Given the description of an element on the screen output the (x, y) to click on. 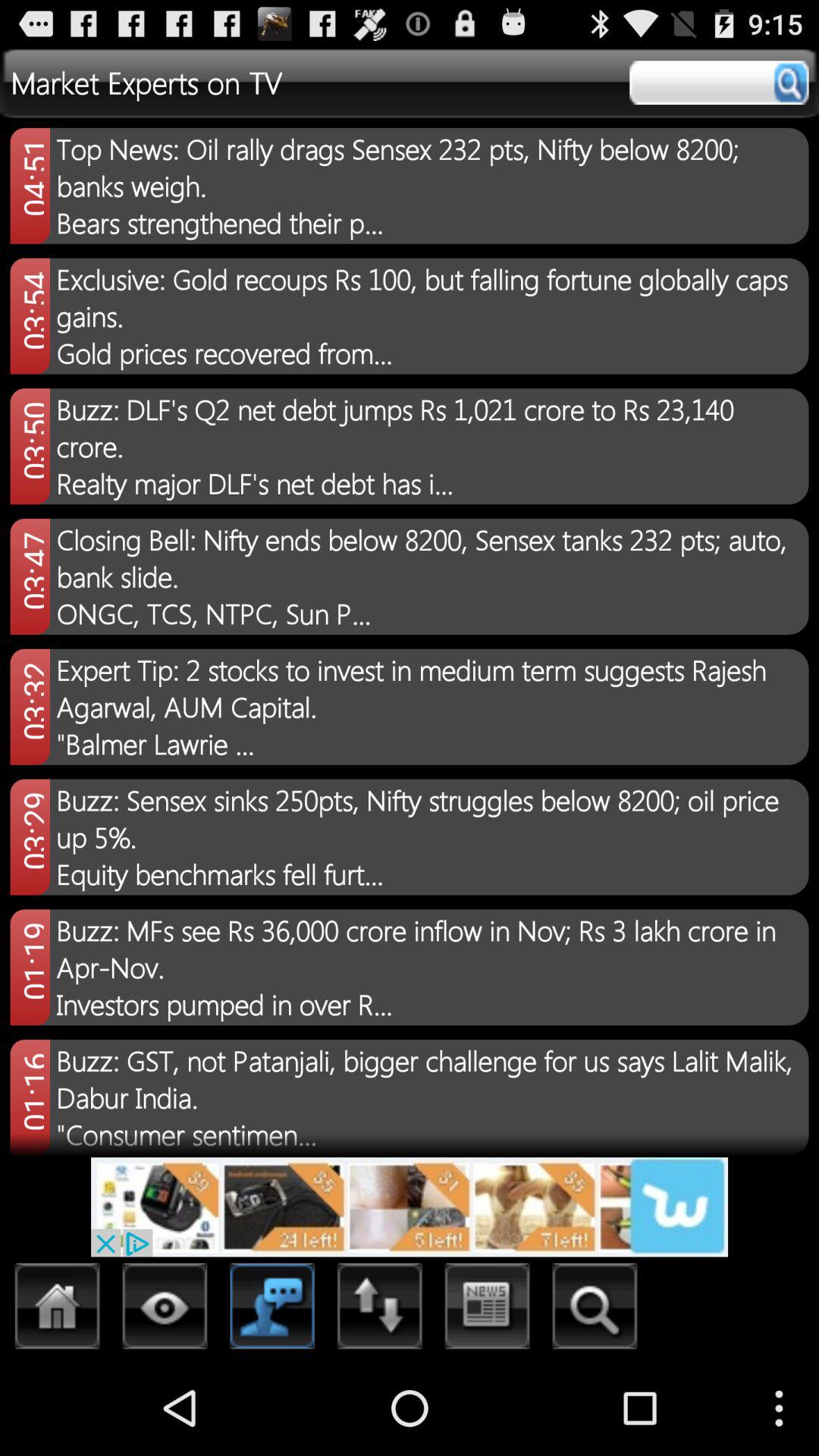
move up or down (379, 1310)
